Given the description of an element on the screen output the (x, y) to click on. 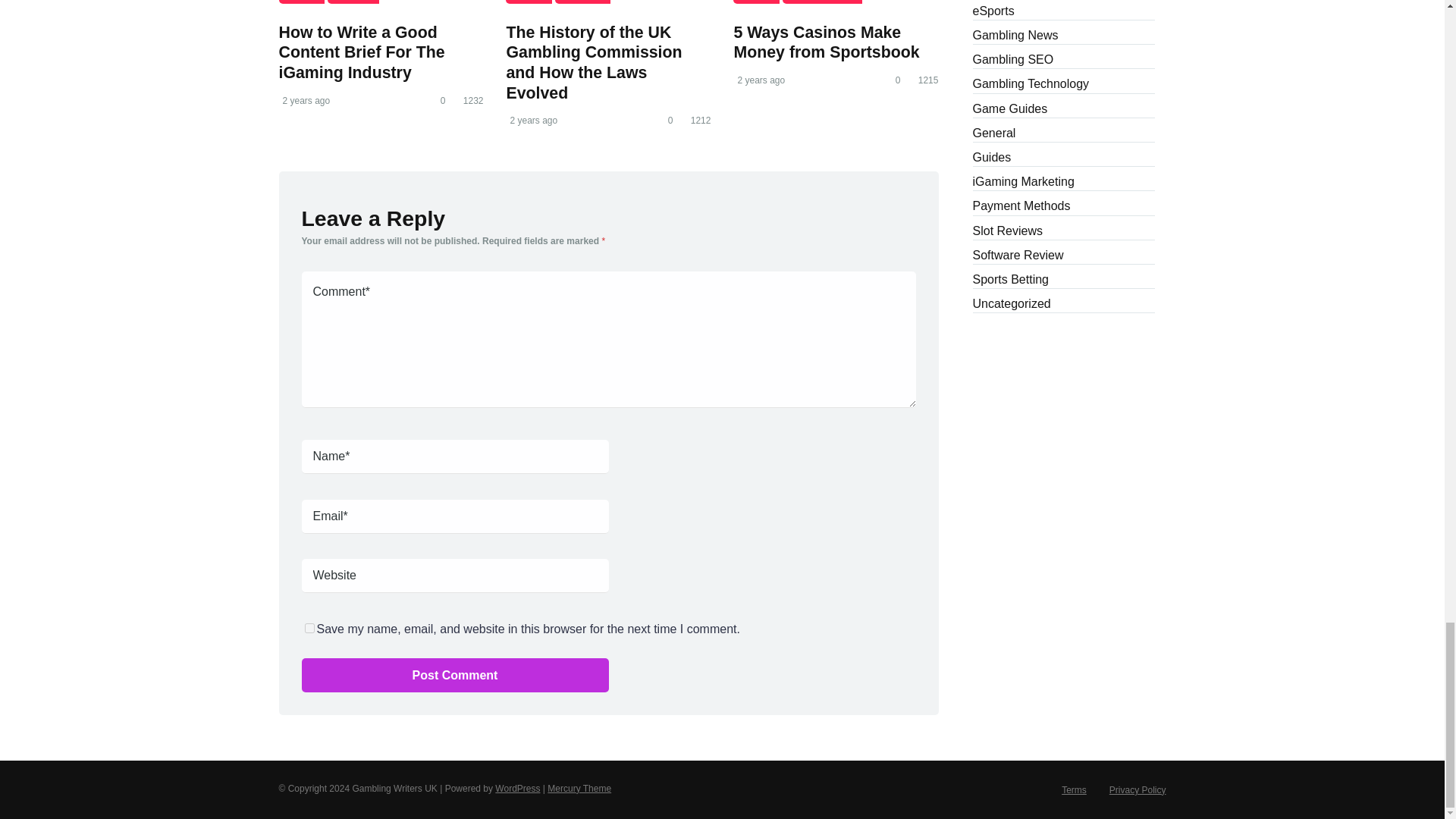
Blogs (301, 1)
How to Write a Good Content Brief For The iGaming Industry (362, 52)
How to Write a Good Content Brief For The iGaming Industry (381, 2)
How to Write a Good Content Brief For The iGaming Industry (362, 52)
yes (309, 628)
5 Ways Casinos Make Money from Sportsbook (835, 2)
Post Comment (454, 675)
5 Ways Casinos Make Money from Sportsbook (825, 42)
